Given the description of an element on the screen output the (x, y) to click on. 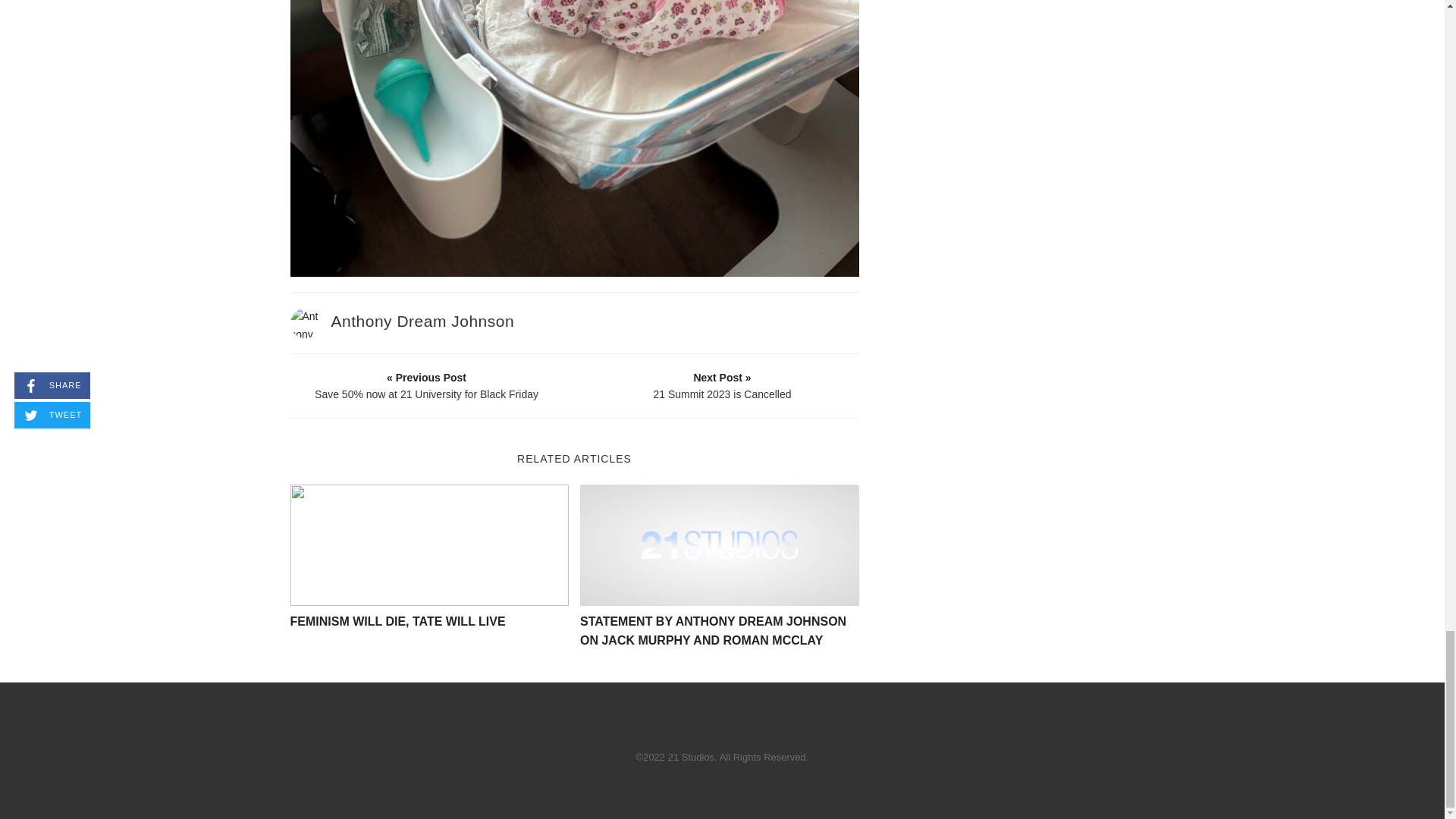
21 Studios (718, 544)
21 Summit 2023 is Cancelled (722, 385)
Anthony Dream Johnson (421, 321)
FEMINISM WILL DIE, TATE WILL LIVE (397, 621)
Feminism Will Die, Tate Will Live (429, 545)
